Given the description of an element on the screen output the (x, y) to click on. 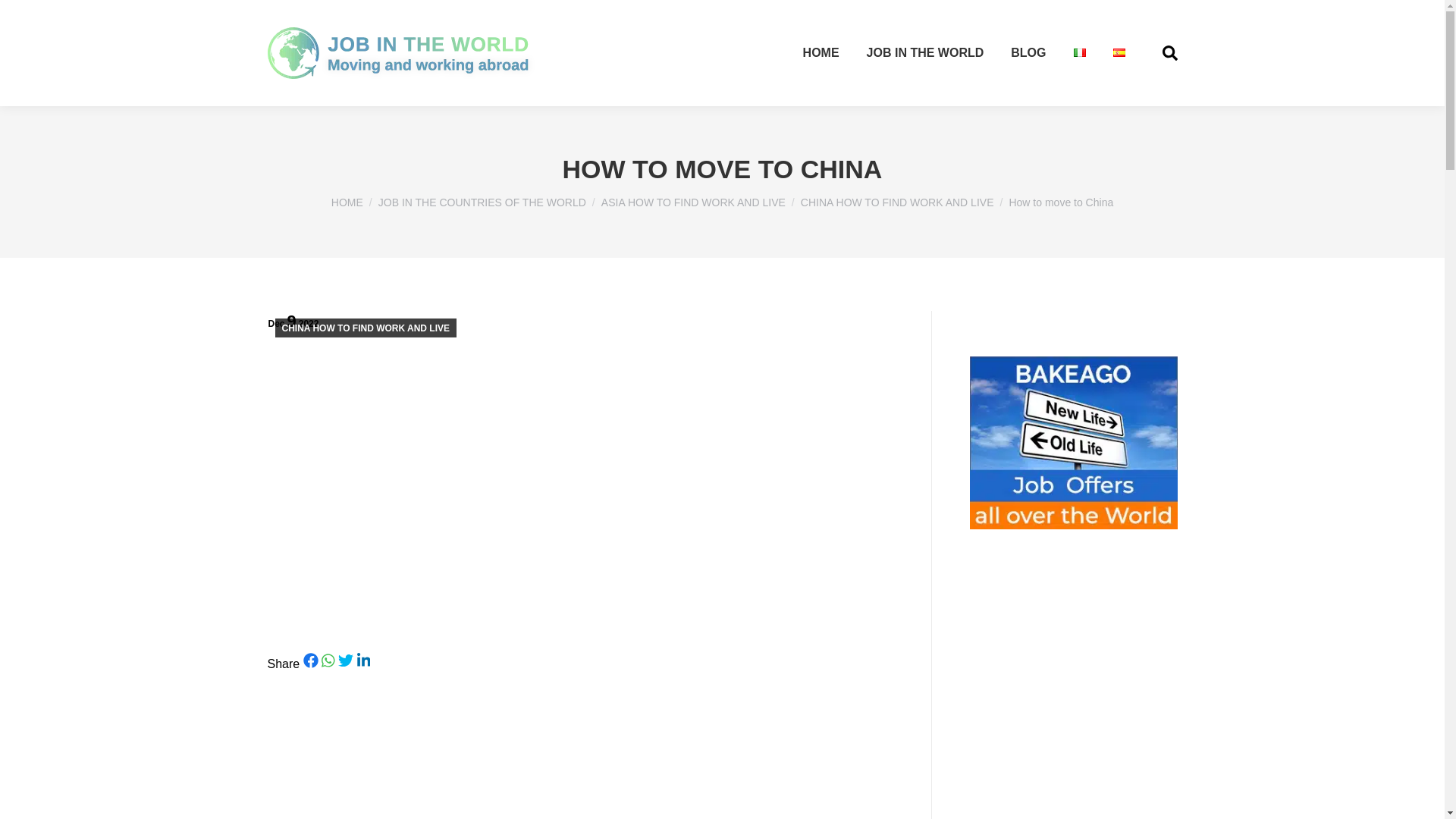
HOME (821, 52)
Job in The World (401, 52)
JOB IN THE WORLD (925, 52)
